Given the description of an element on the screen output the (x, y) to click on. 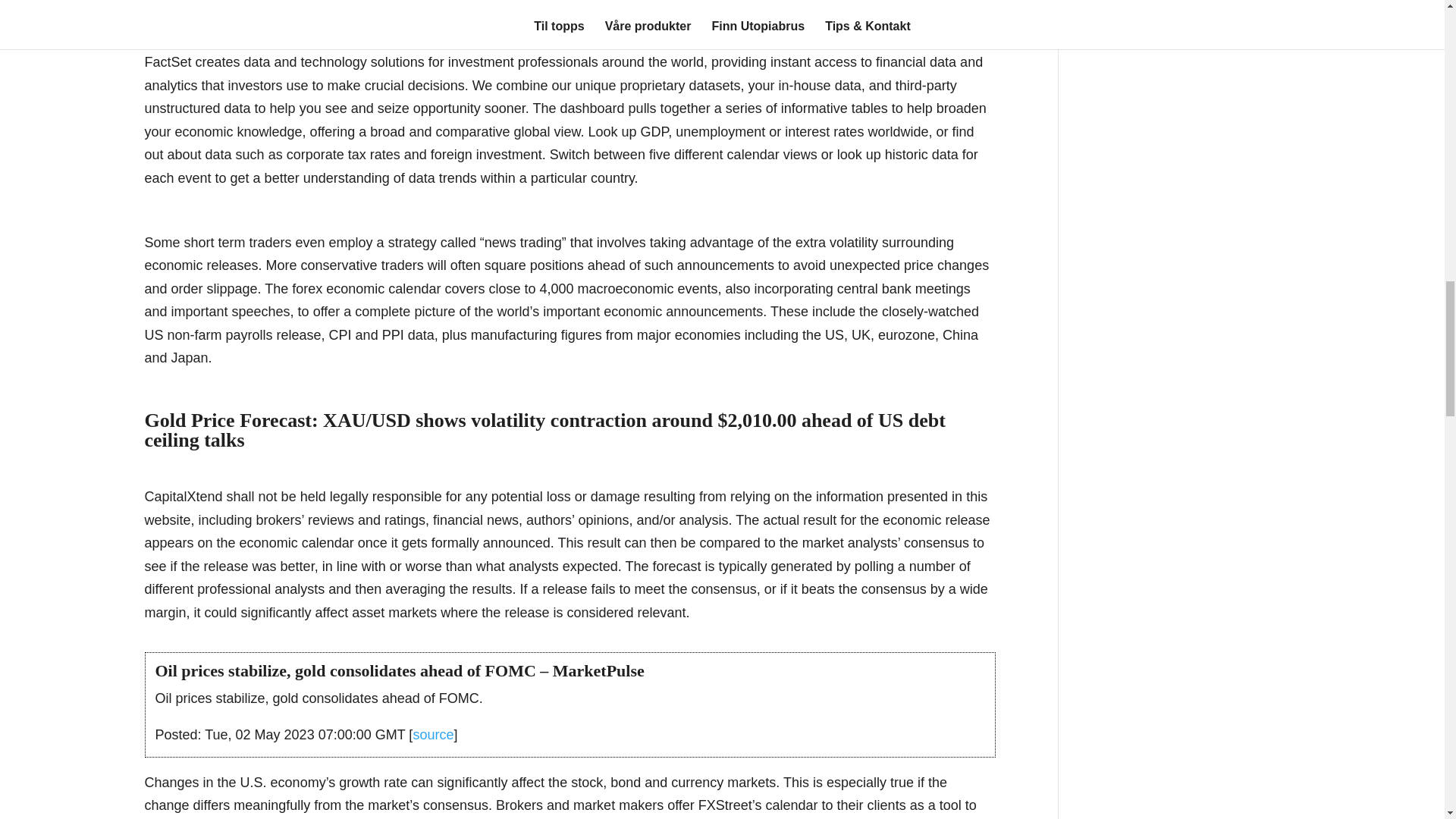
source (432, 734)
